Given the description of an element on the screen output the (x, y) to click on. 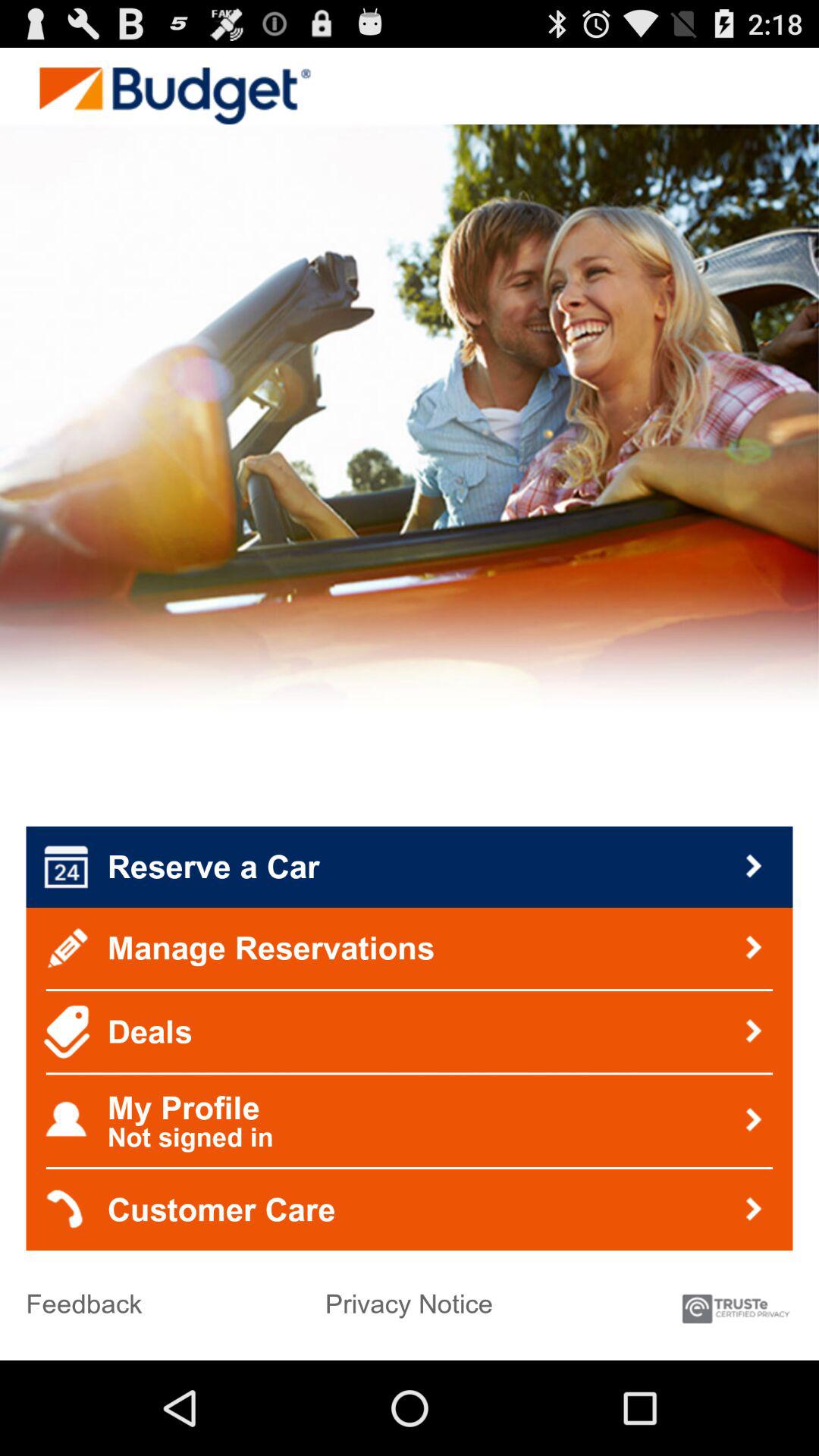
launch my profile not item (409, 1120)
